Given the description of an element on the screen output the (x, y) to click on. 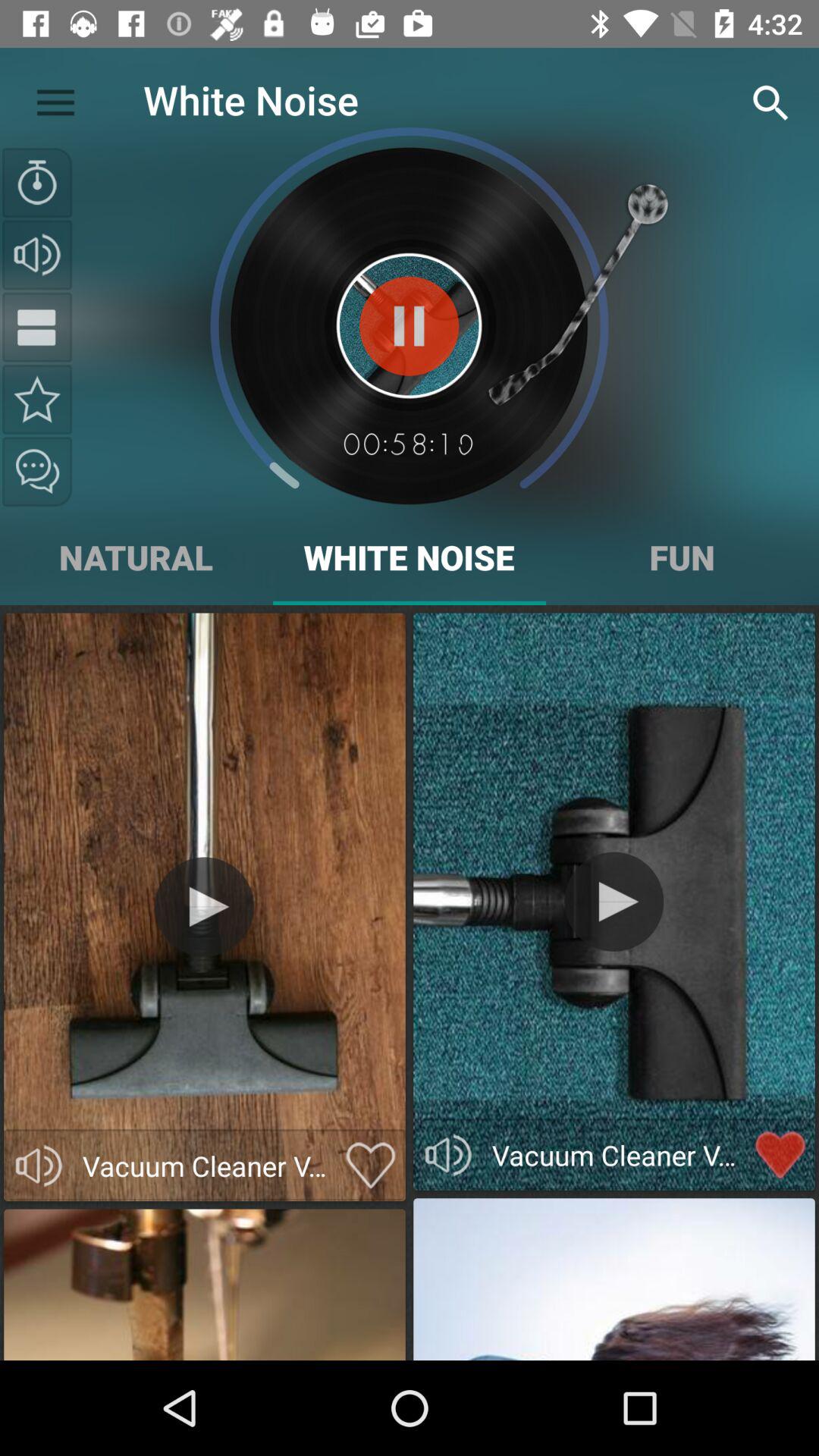
play (204, 906)
